Given the description of an element on the screen output the (x, y) to click on. 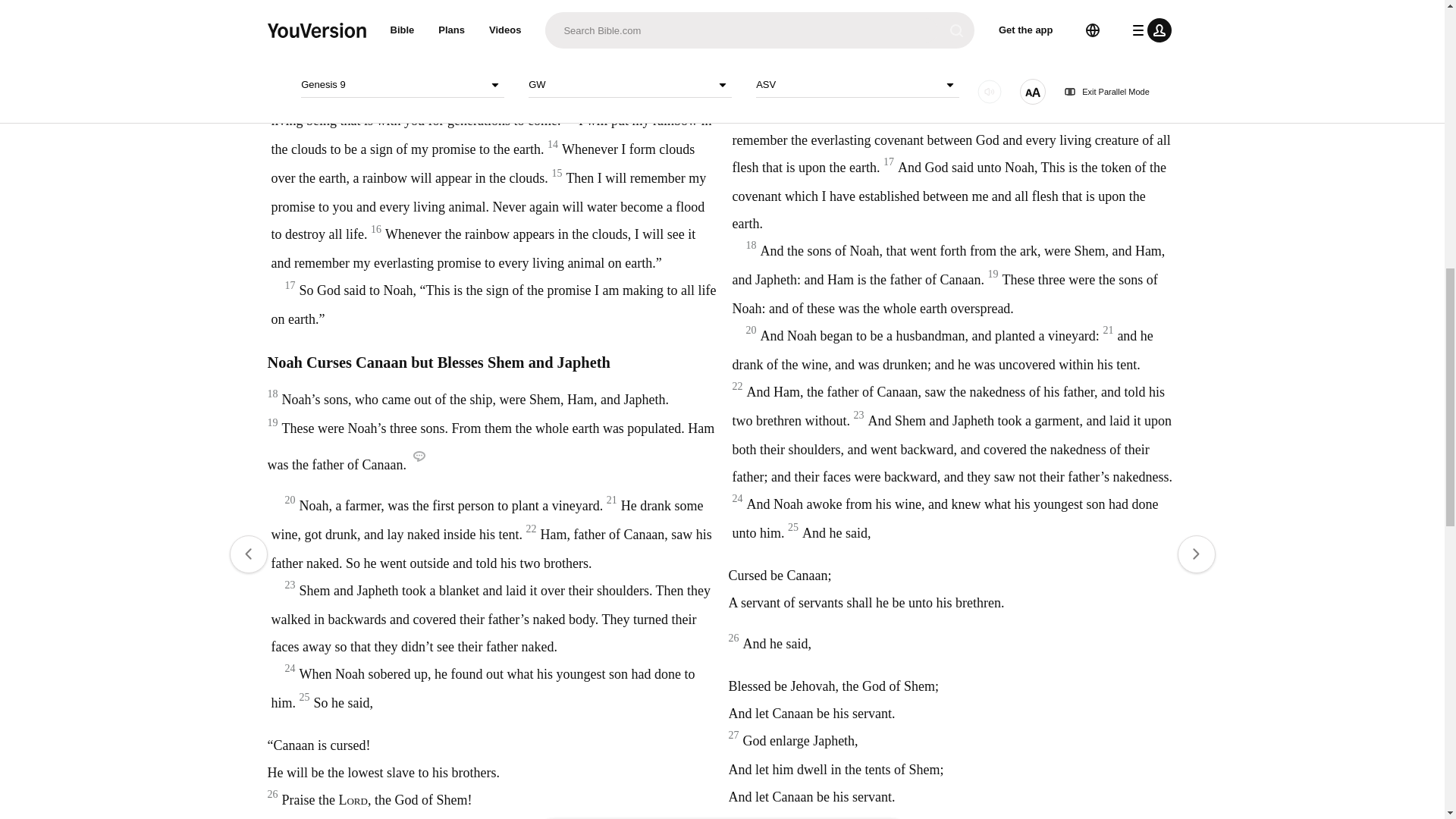
: (599, 47)
Sign up or sign in (773, 245)
Genesis 9: GW (614, 47)
